Given the description of an element on the screen output the (x, y) to click on. 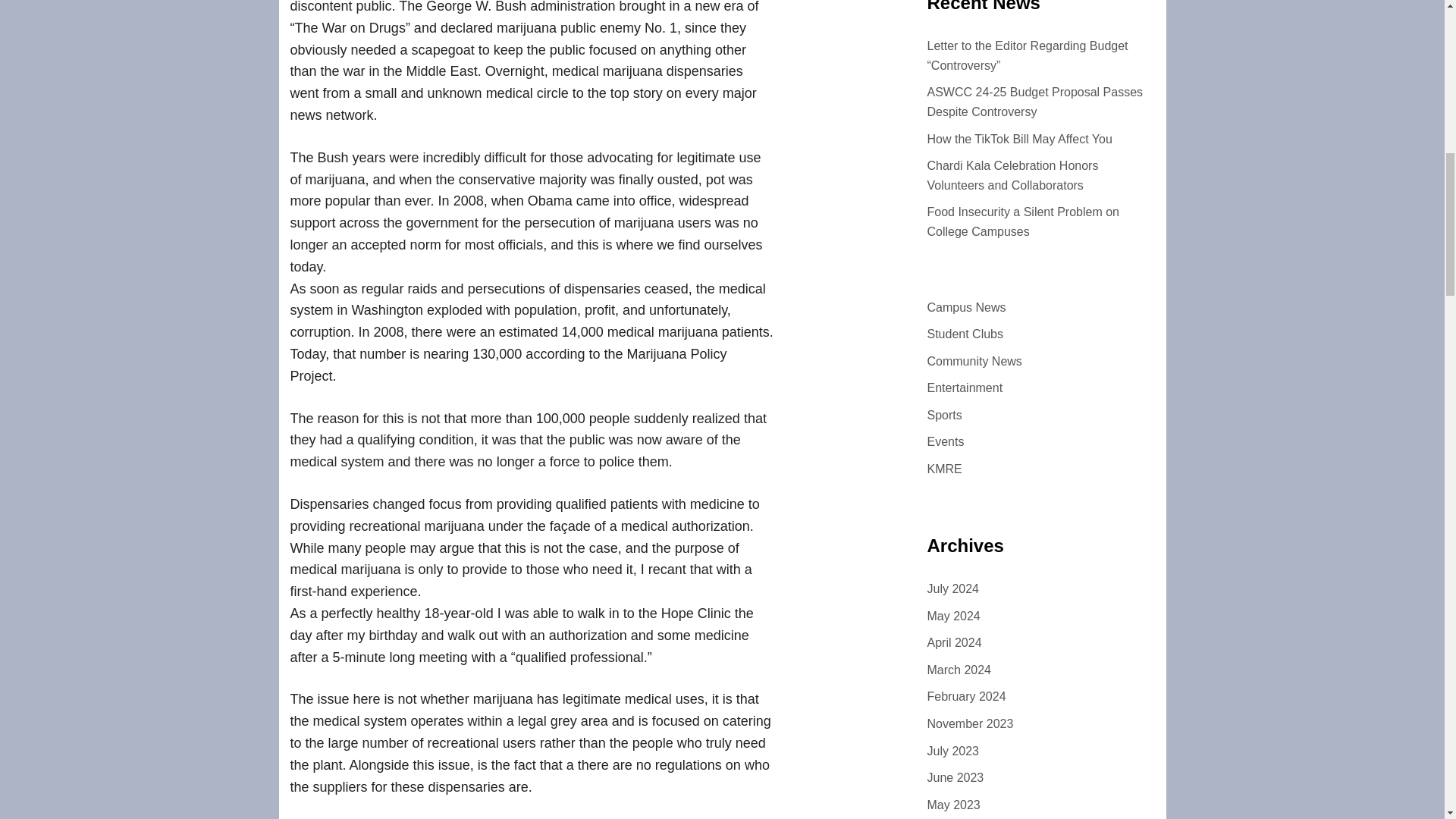
Food Insecurity a Silent Problem on College Campuses (1022, 221)
How the TikTok Bill May Affect You (1019, 138)
ASWCC 24-25 Budget Proposal Passes Despite Controversy (1034, 101)
Entertainment (964, 387)
Student Clubs (964, 333)
Chardi Kala Celebration Honors Volunteers and Collaborators (1011, 174)
Campus News (966, 307)
July 2024 (952, 588)
Events (944, 440)
Community News (974, 360)
Sports (943, 414)
May 2024 (952, 615)
April 2024 (953, 642)
KMRE (943, 468)
